Given the description of an element on the screen output the (x, y) to click on. 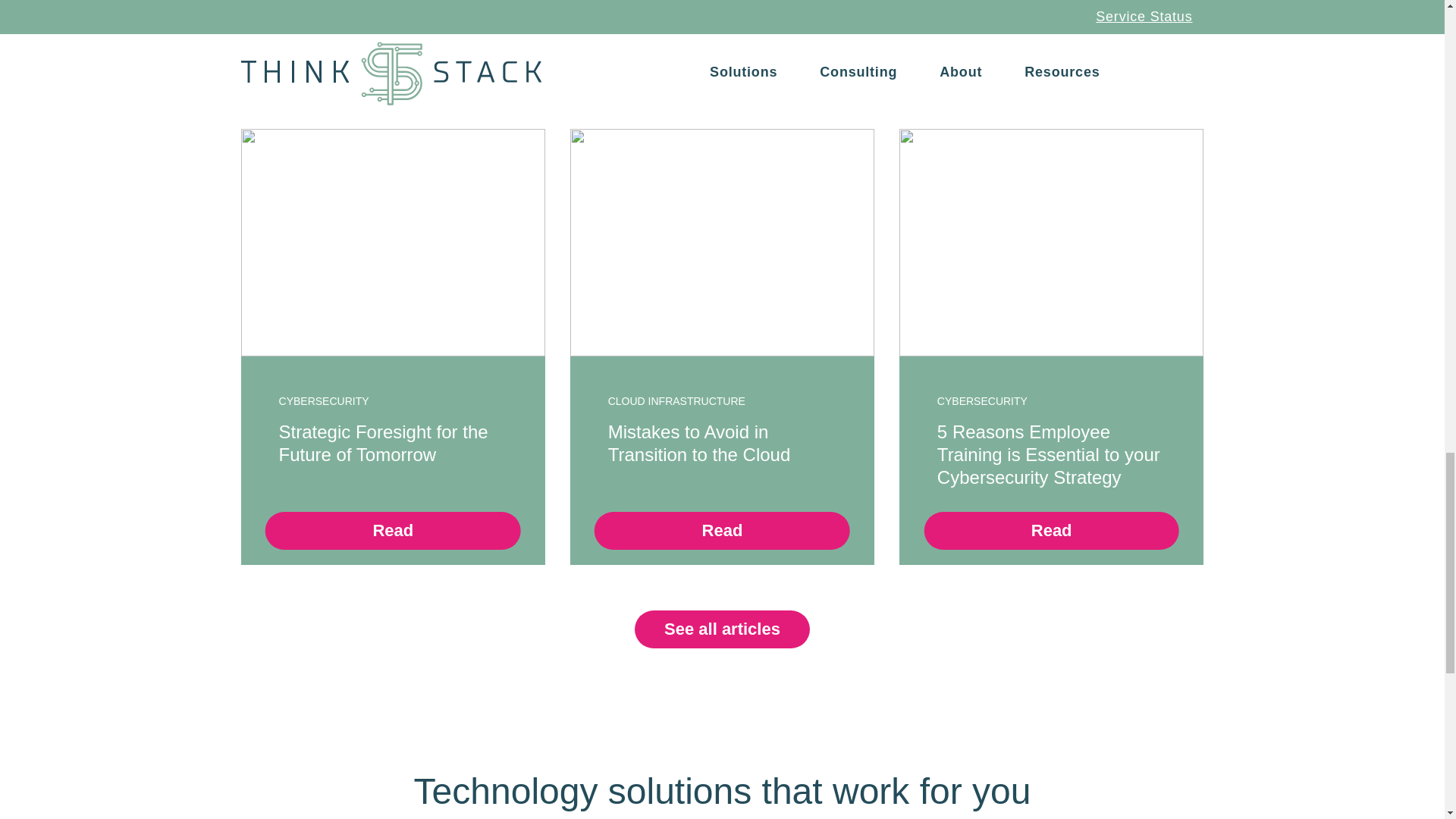
See all articles (721, 629)
